Given the description of an element on the screen output the (x, y) to click on. 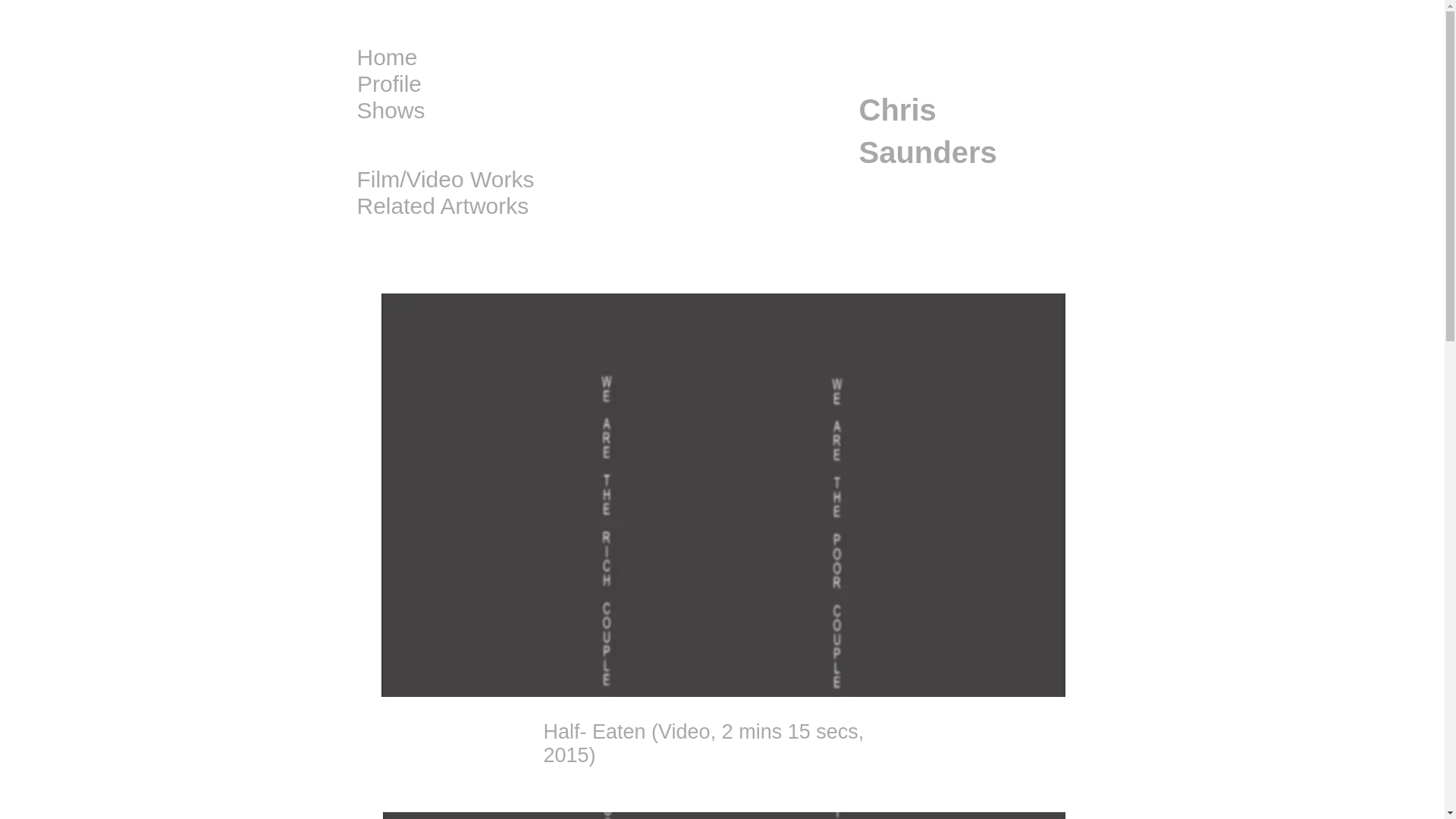
Home (386, 57)
Shows (390, 110)
Profile (389, 83)
Related Artworks (442, 205)
